Given the description of an element on the screen output the (x, y) to click on. 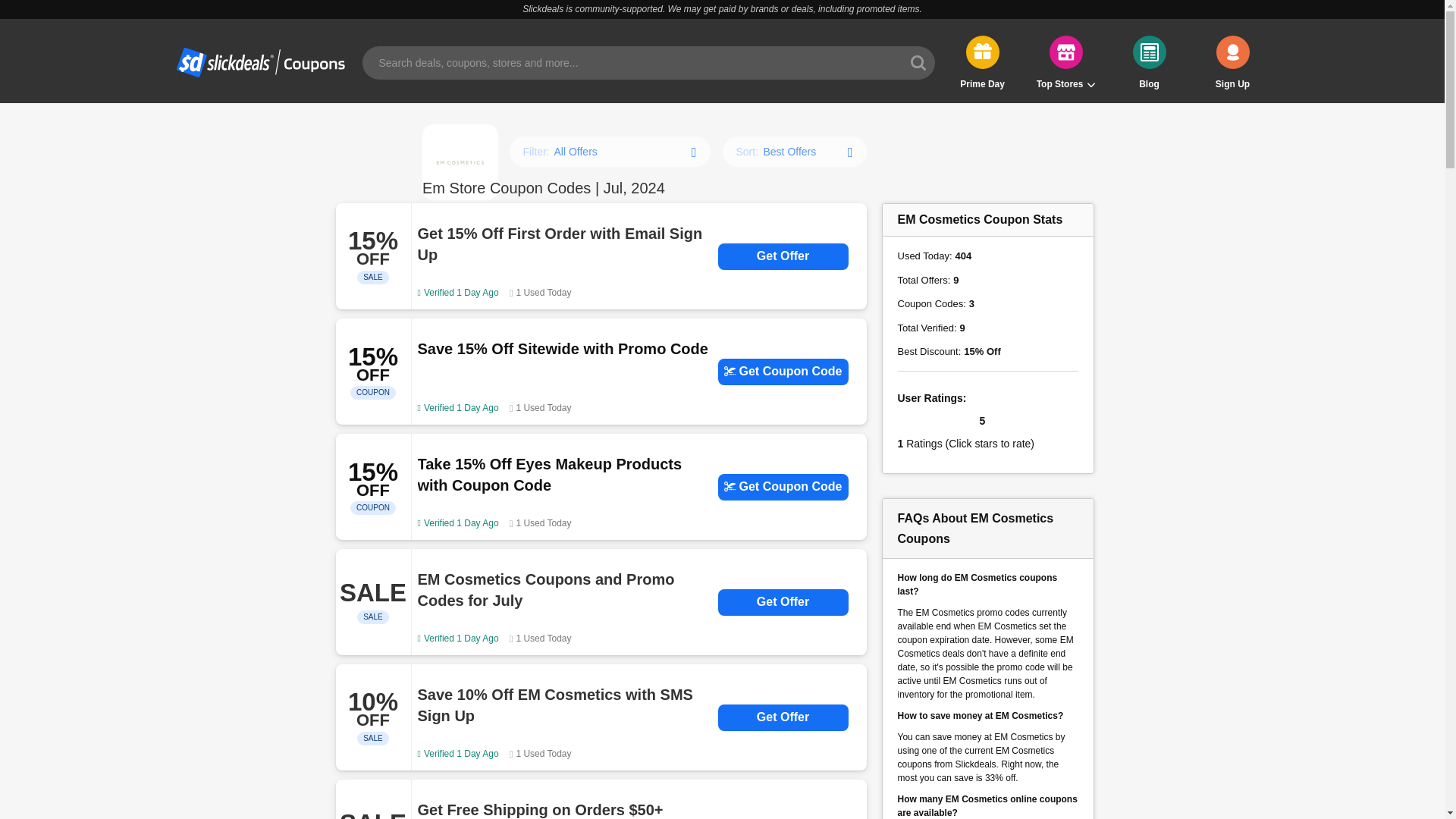
Blog (1149, 62)
Sign Up (1232, 62)
Prime Day (981, 62)
